Given the description of an element on the screen output the (x, y) to click on. 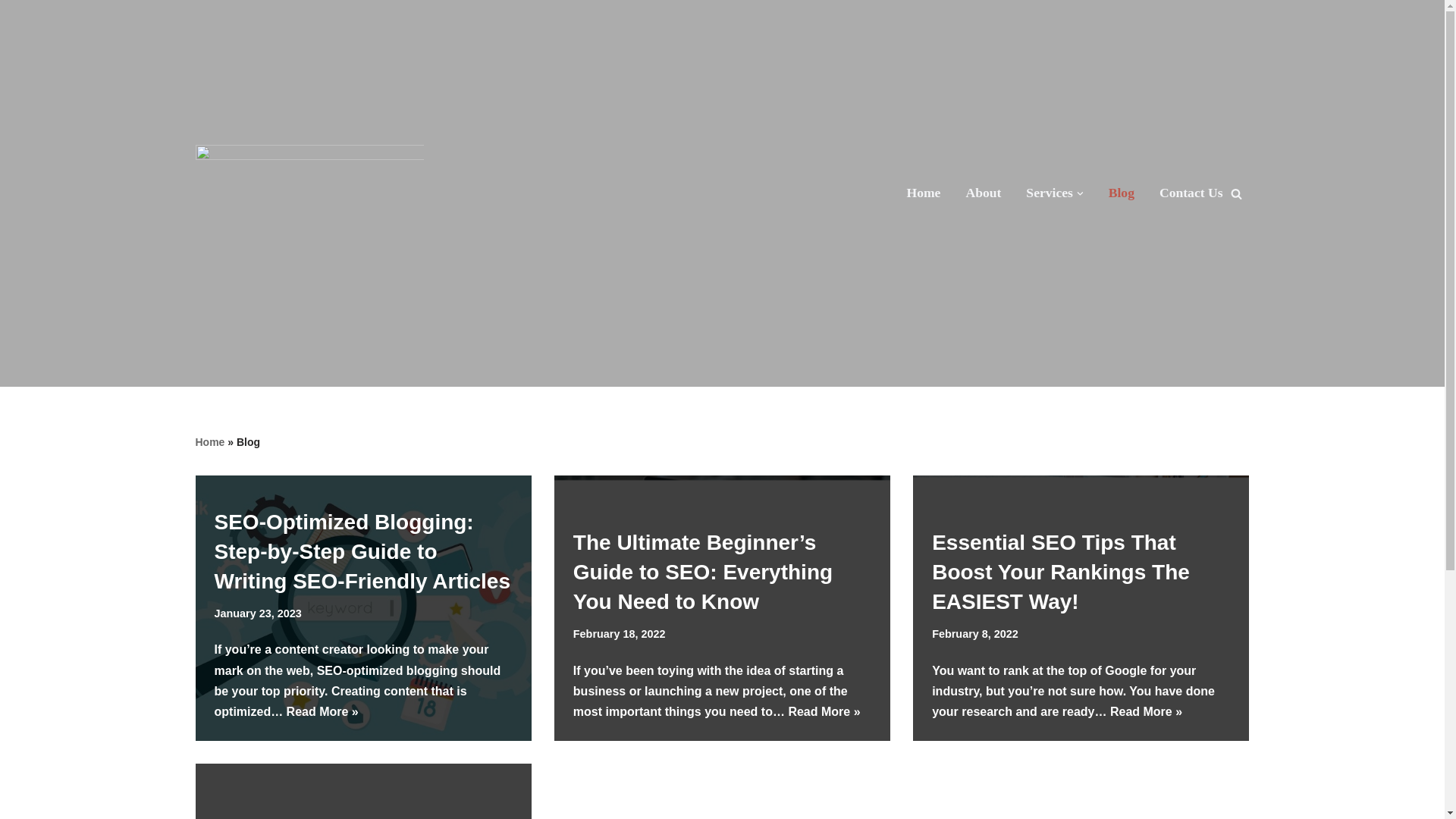
Essential SEO Tips That Boost Your Rankings The EASIEST Way! (1060, 571)
Services (1054, 192)
Home (210, 441)
Contact Us (1190, 192)
Home (922, 192)
Skip to content (11, 31)
Blog (1121, 192)
Kysora Web Services (309, 192)
About (983, 192)
